Given the description of an element on the screen output the (x, y) to click on. 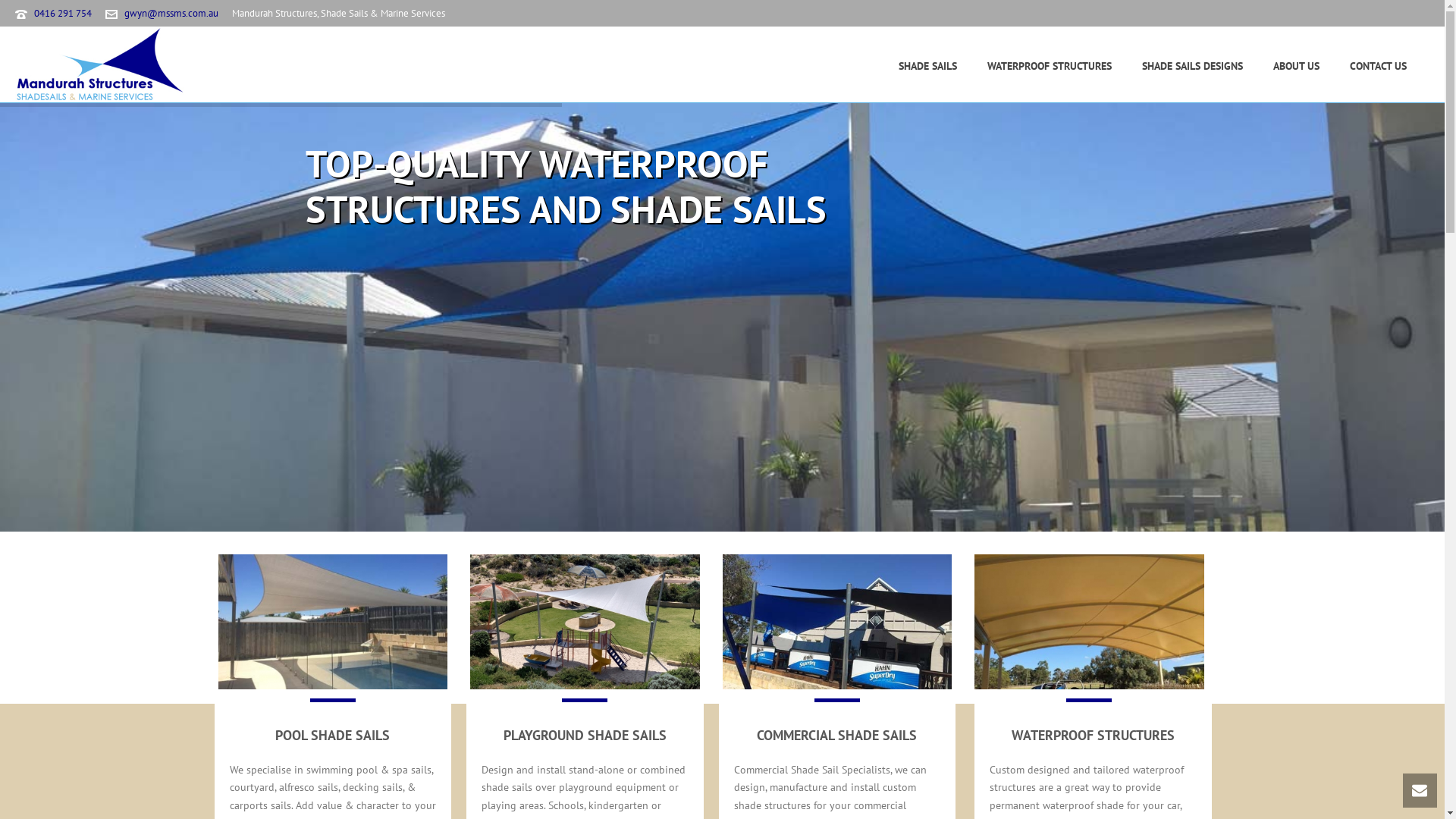
SHADE SAILS Element type: text (927, 65)
0416 291 754 Element type: text (62, 12)
playground-12 Element type: hover (584, 621)
WATERPROOF STRUCTURES Element type: text (1049, 65)
domestic-shadesail-67 Element type: hover (836, 621)
domestic-shadesail-162 Element type: hover (333, 621)
CONTACT US Element type: text (1377, 65)
shade-structures-1 Element type: hover (1089, 621)
Mandurah Structures Sails & Marine Services Element type: hover (99, 64)
gwyn@mssms.com.au Element type: text (171, 12)
SHADE SAILS DESIGNS Element type: text (1192, 65)
ABOUT US Element type: text (1296, 65)
